Given the description of an element on the screen output the (x, y) to click on. 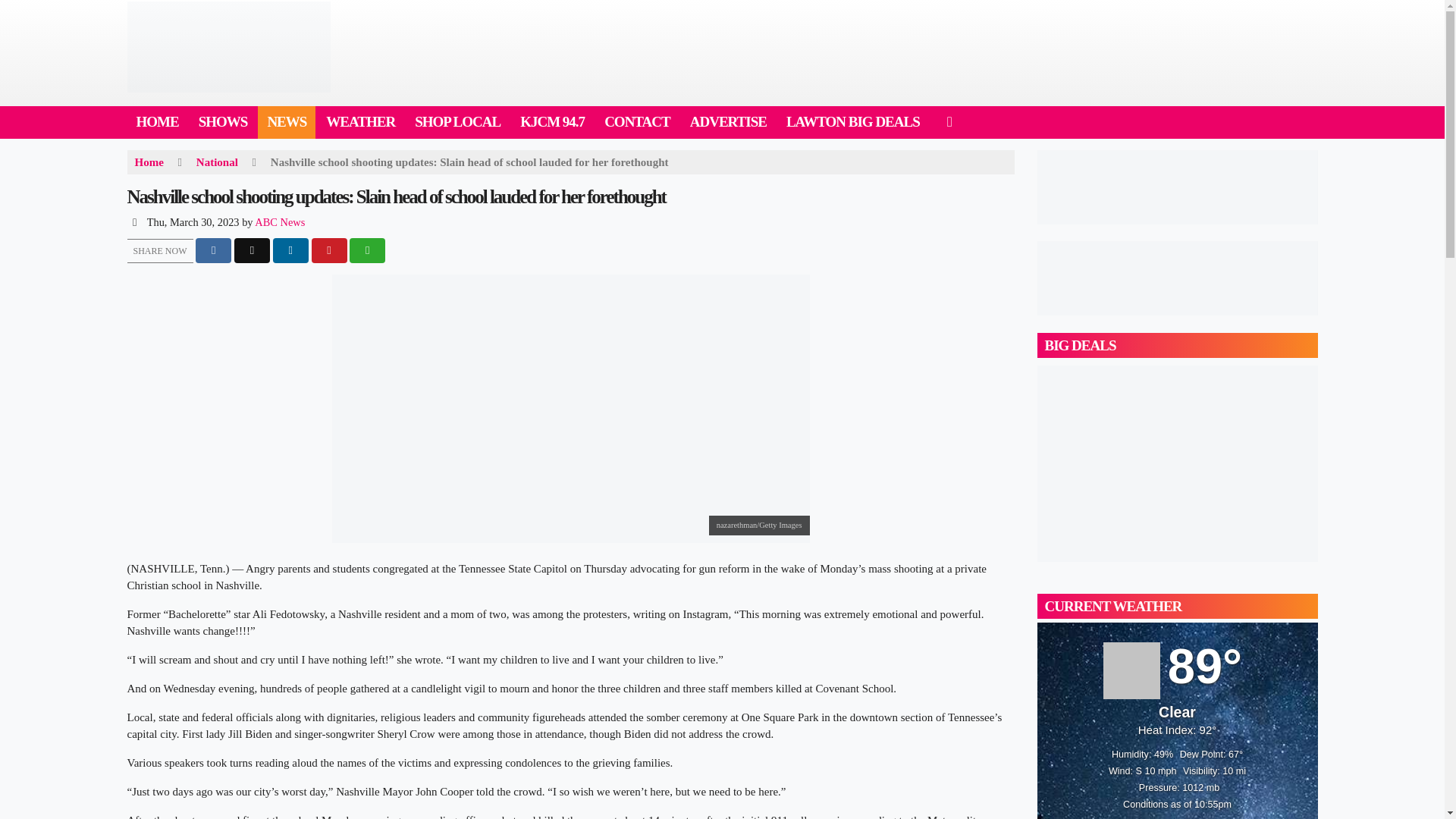
Share via E-Mail (367, 250)
Share to Facebook (213, 250)
Posts by ABC News (279, 222)
Share to LinkedIn (290, 250)
Share to X (251, 250)
Share to Pinterest (328, 250)
